Given the description of an element on the screen output the (x, y) to click on. 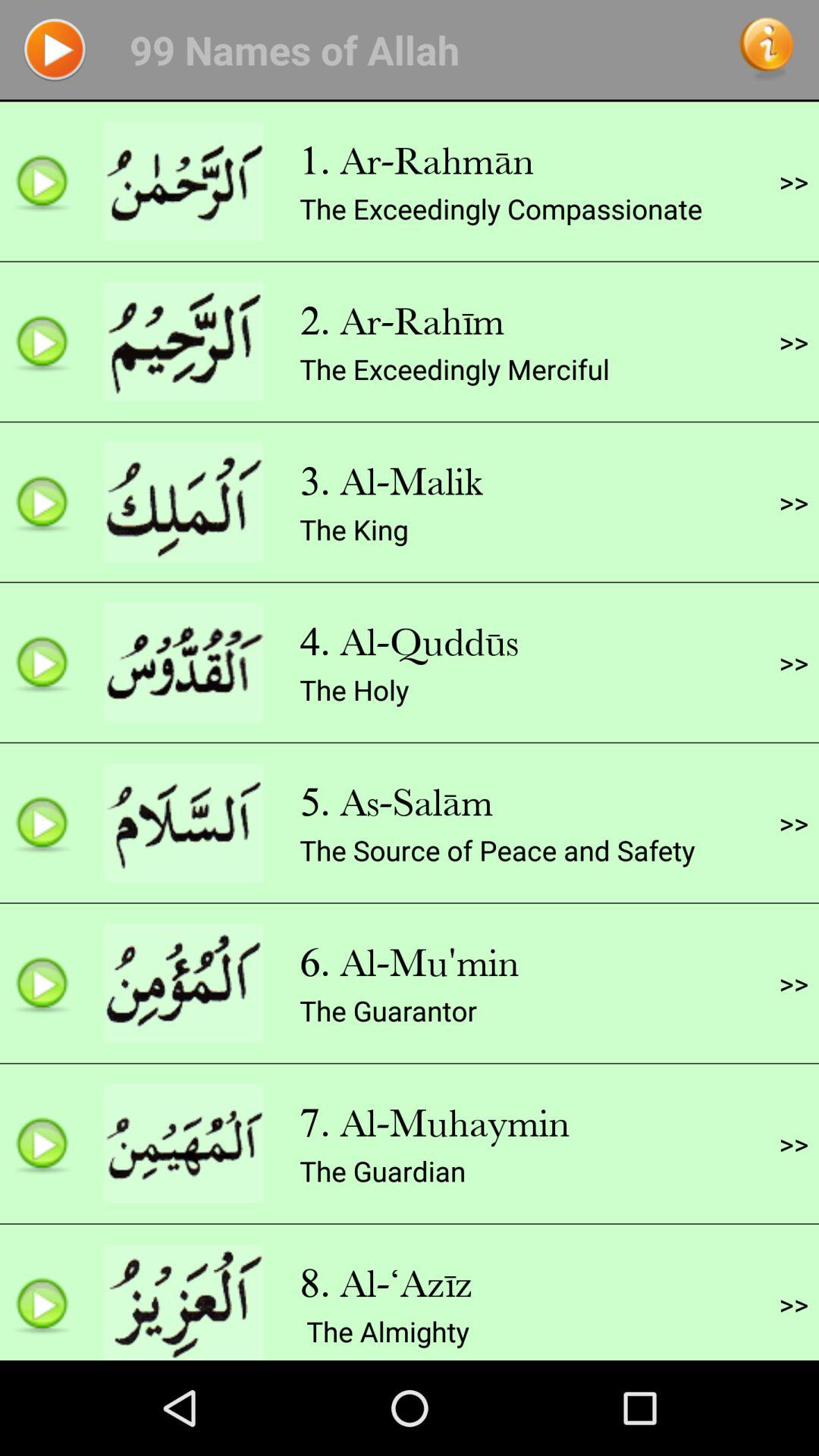
turn off the item above the >> icon (793, 501)
